Given the description of an element on the screen output the (x, y) to click on. 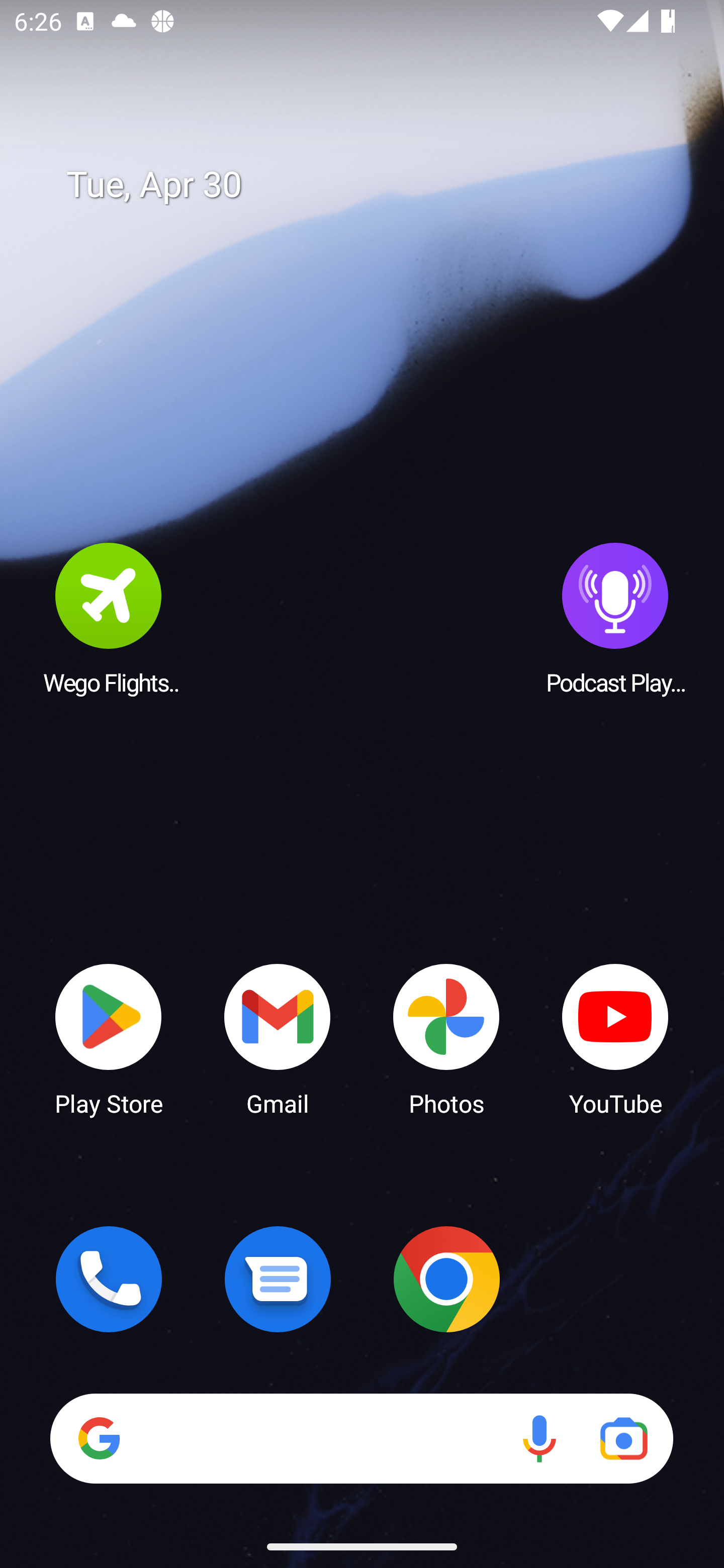
Tue, Apr 30 (375, 184)
Wego Flights & Hotels (108, 617)
Podcast Player (615, 617)
Play Store (108, 1038)
Gmail (277, 1038)
Photos (445, 1038)
YouTube (615, 1038)
Phone (108, 1279)
Messages (277, 1279)
Chrome (446, 1279)
Voice search (539, 1438)
Google Lens (623, 1438)
